Given the description of an element on the screen output the (x, y) to click on. 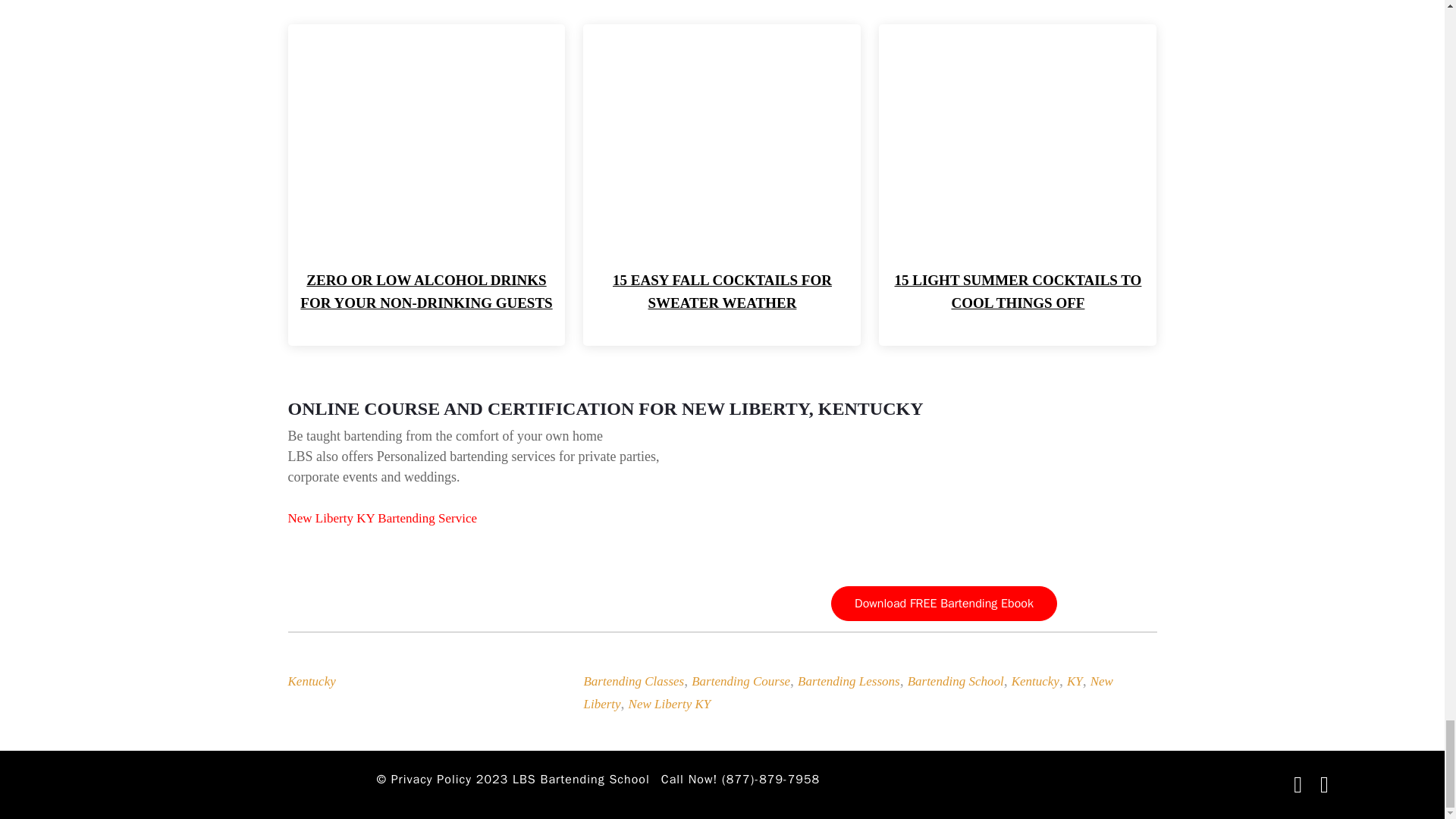
Kentucky (312, 681)
ZERO OR LOW ALCOHOL DRINKS FOR YOUR NON-DRINKING GUESTS (425, 291)
Bartending Lessons (848, 681)
Bartending School (955, 681)
Bartending Classes (633, 681)
New Liberty KY Bartending Service (382, 518)
